Given the description of an element on the screen output the (x, y) to click on. 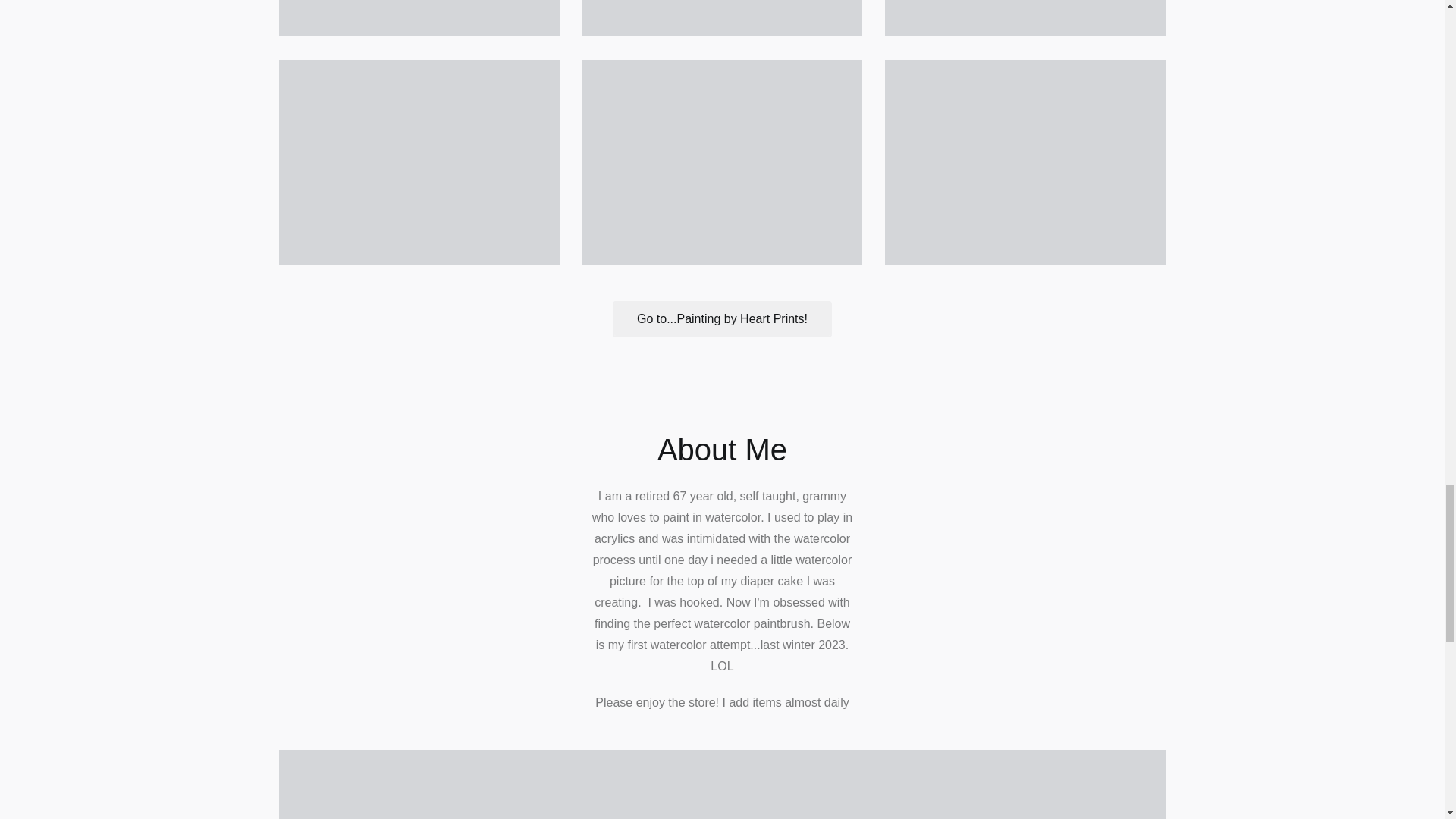
Go to...Painting by Heart Prints! (721, 319)
